Given the description of an element on the screen output the (x, y) to click on. 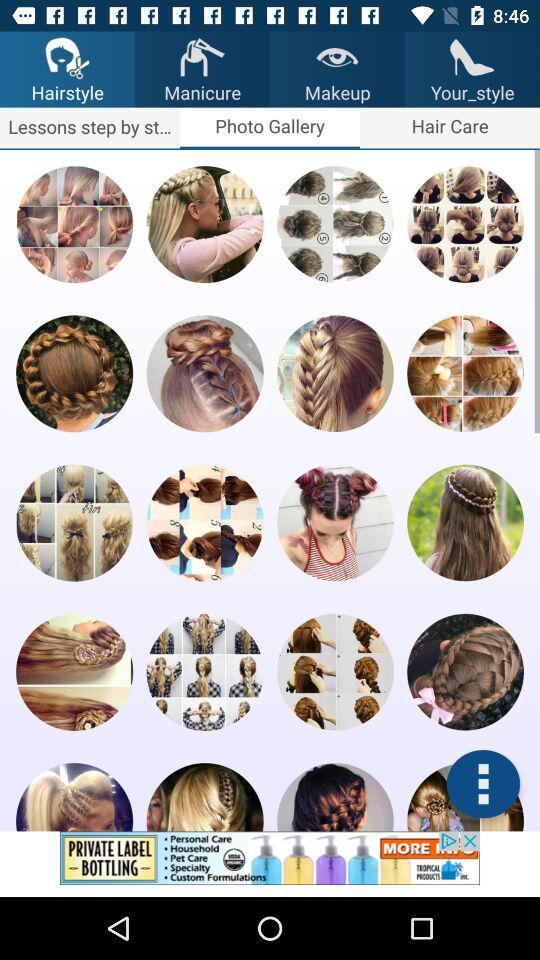
photo app (465, 522)
